Given the description of an element on the screen output the (x, y) to click on. 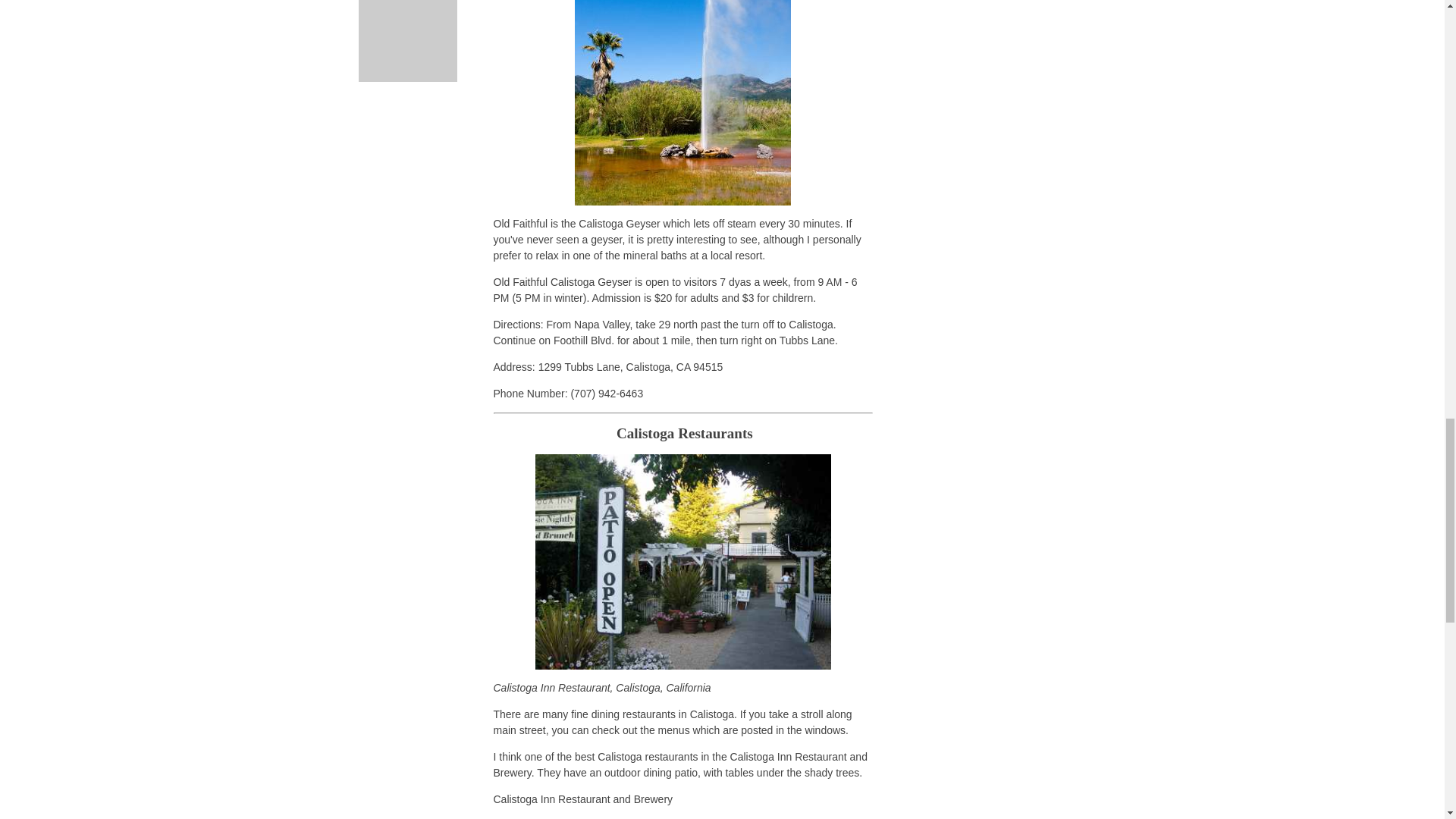
Calistoga Geyser (682, 102)
Calistoga California (683, 561)
